Given the description of an element on the screen output the (x, y) to click on. 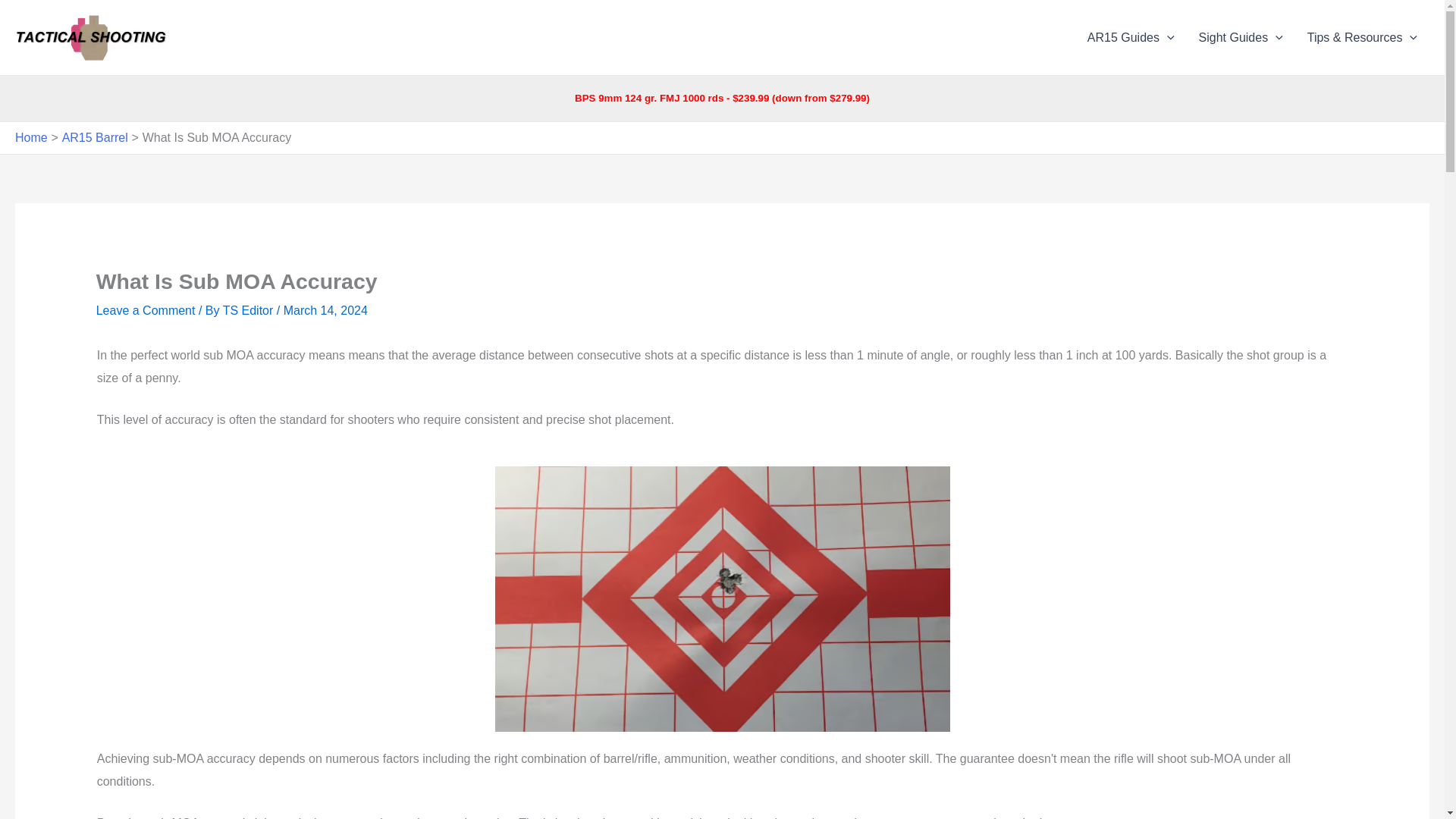
Sight Guides (1240, 37)
sub moa accuracy (722, 599)
AR15 Guides (1130, 37)
View all posts by TS Editor (249, 309)
